Given the description of an element on the screen output the (x, y) to click on. 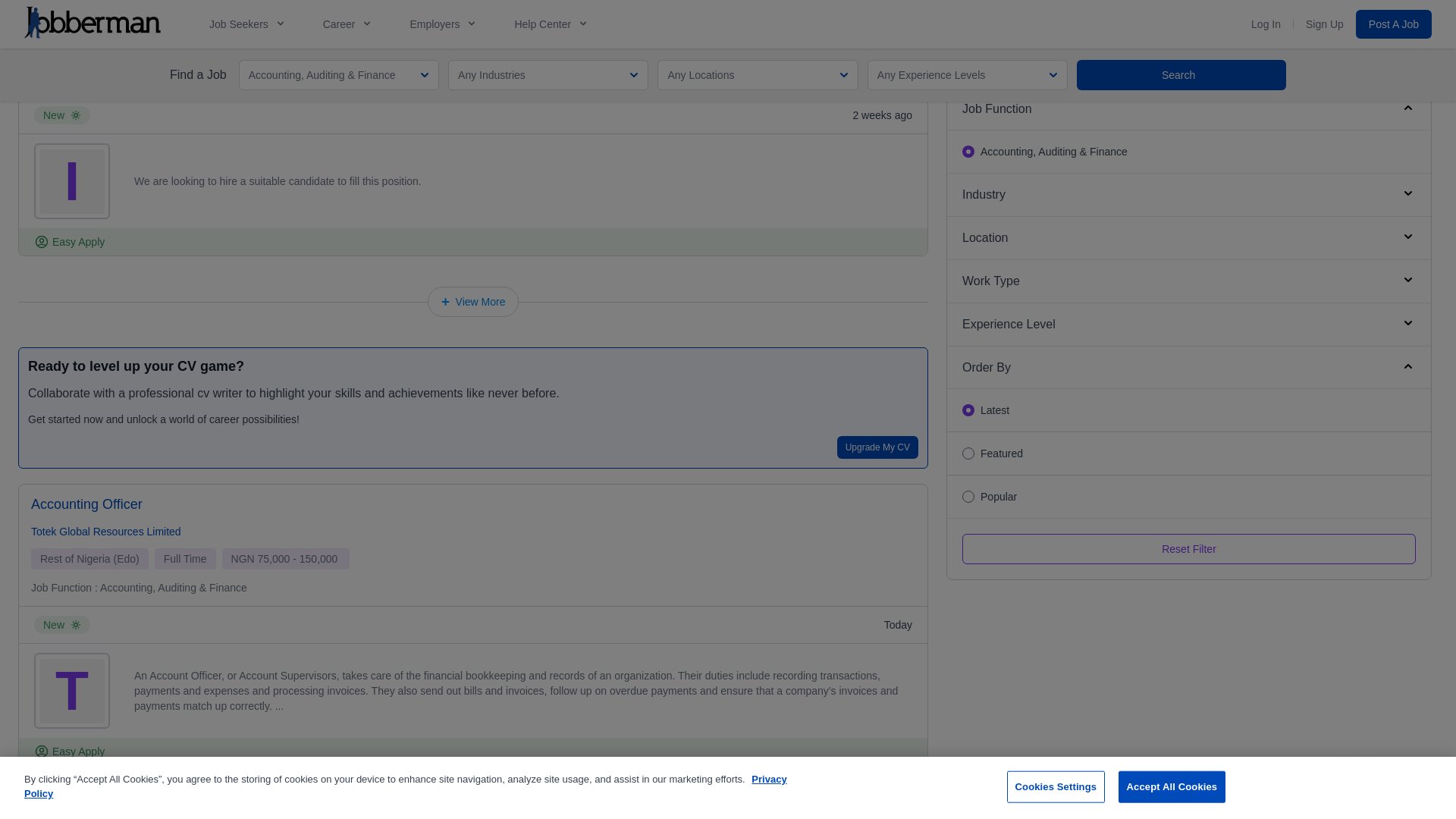
Chinese Translator (103, 2)
